Given the description of an element on the screen output the (x, y) to click on. 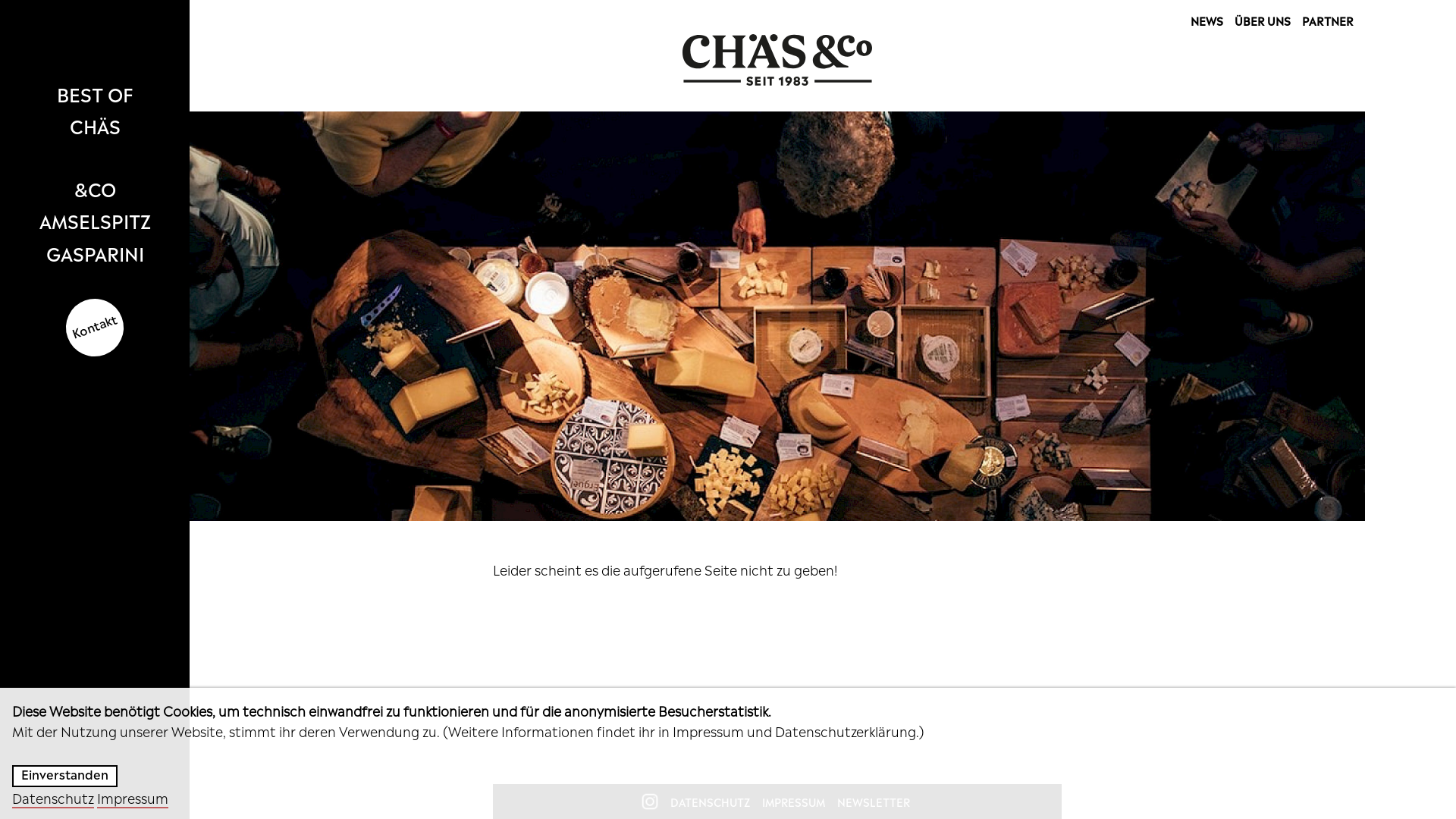
&CO Element type: text (94, 187)
Kontakt Element type: text (86, 318)
NEWSLETTER Element type: text (873, 801)
Kontakt Element type: text (94, 325)
NEWS Element type: text (1206, 20)
BEST OF Element type: text (94, 93)
IMPRESSUM Element type: text (792, 801)
DATENSCHUTZ Element type: text (709, 801)
AMSELSPITZ Element type: text (94, 219)
GASPARINI Element type: text (94, 252)
PARTNER Element type: text (1327, 20)
Datenschutz Element type: text (53, 797)
Einverstanden Element type: text (64, 776)
Impressum Element type: text (132, 797)
